Given the description of an element on the screen output the (x, y) to click on. 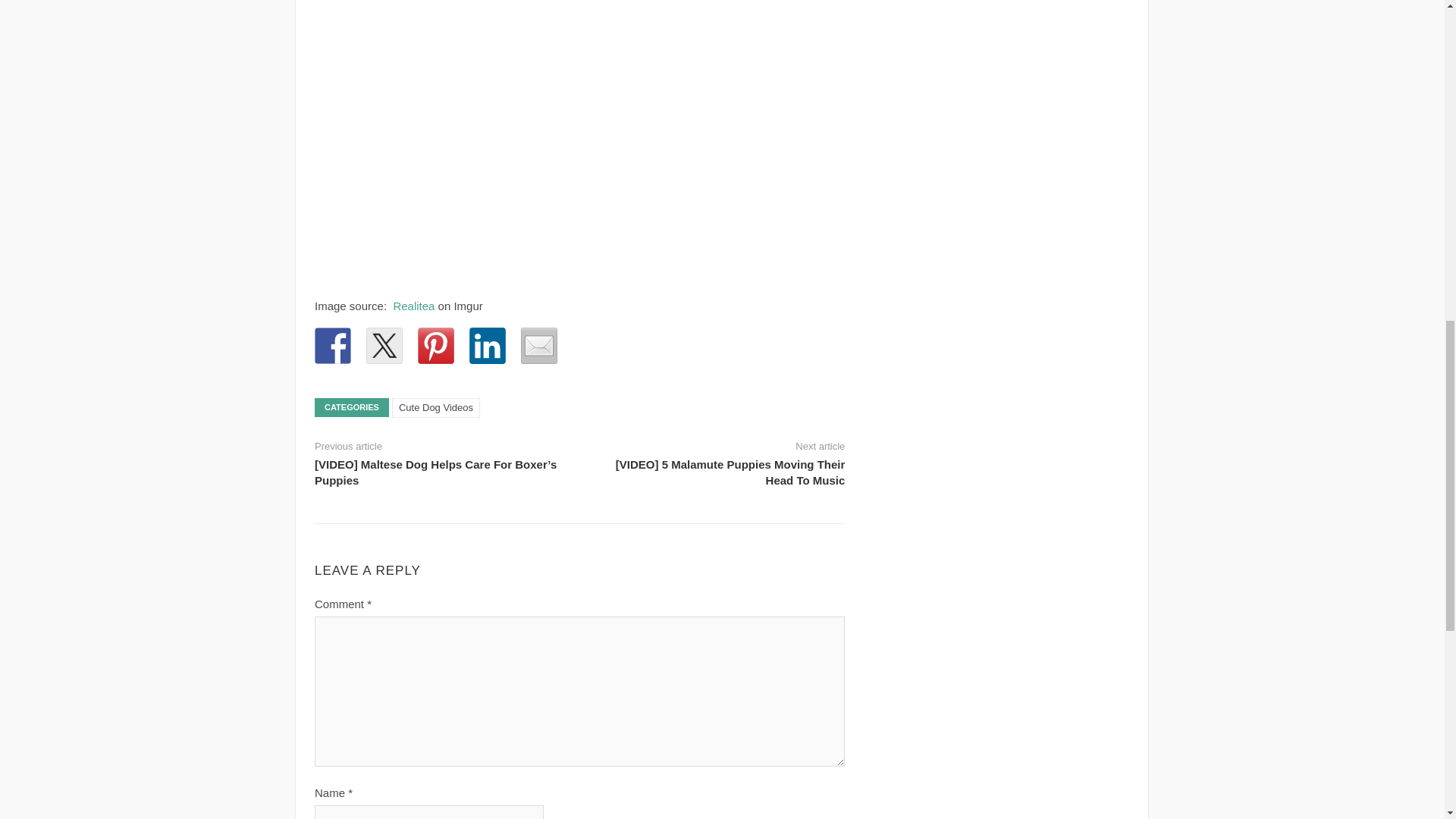
Realitea (413, 305)
Cute Dog Videos (435, 407)
